Given the description of an element on the screen output the (x, y) to click on. 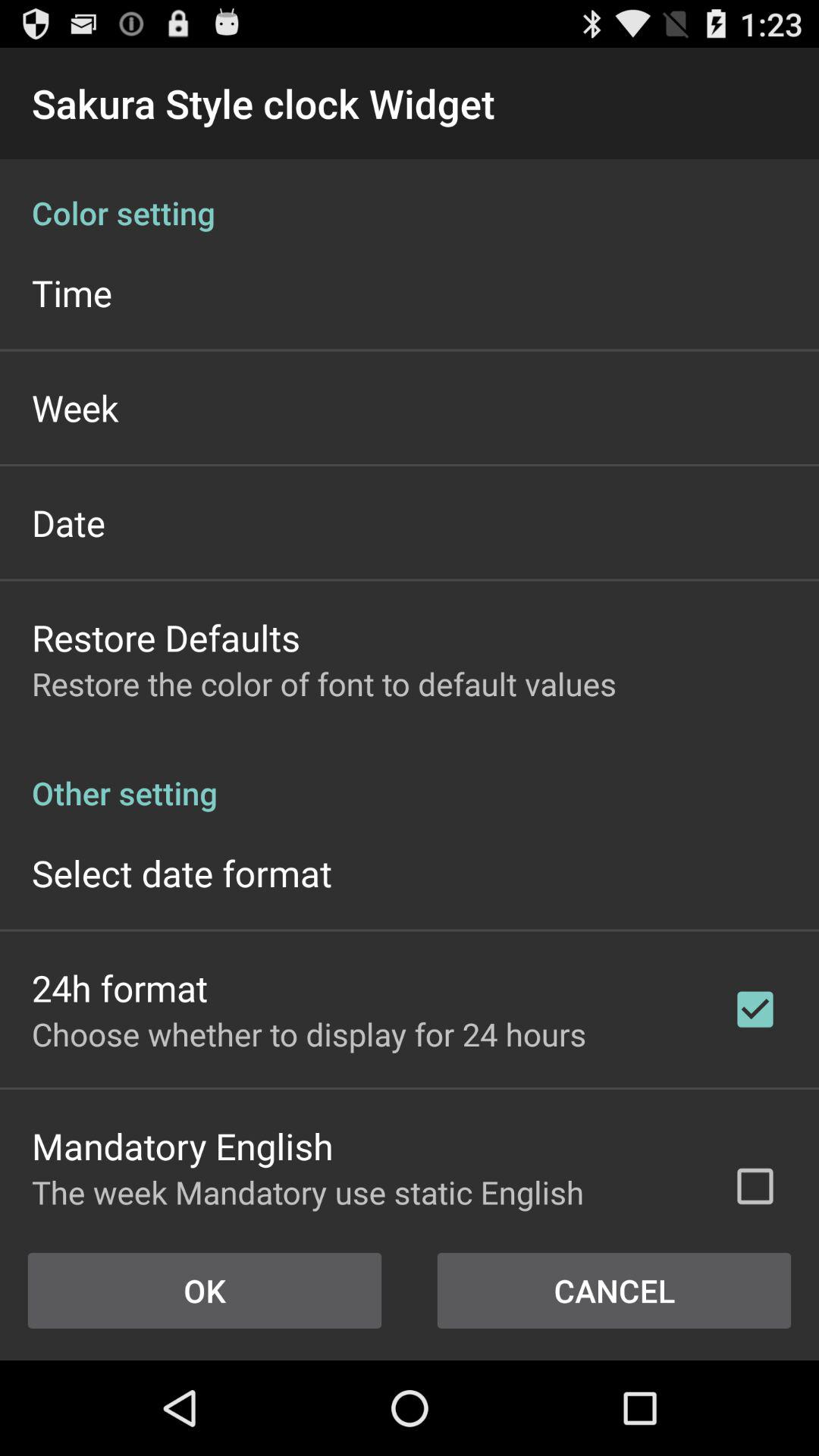
launch item below the the week mandatory (614, 1290)
